Given the description of an element on the screen output the (x, y) to click on. 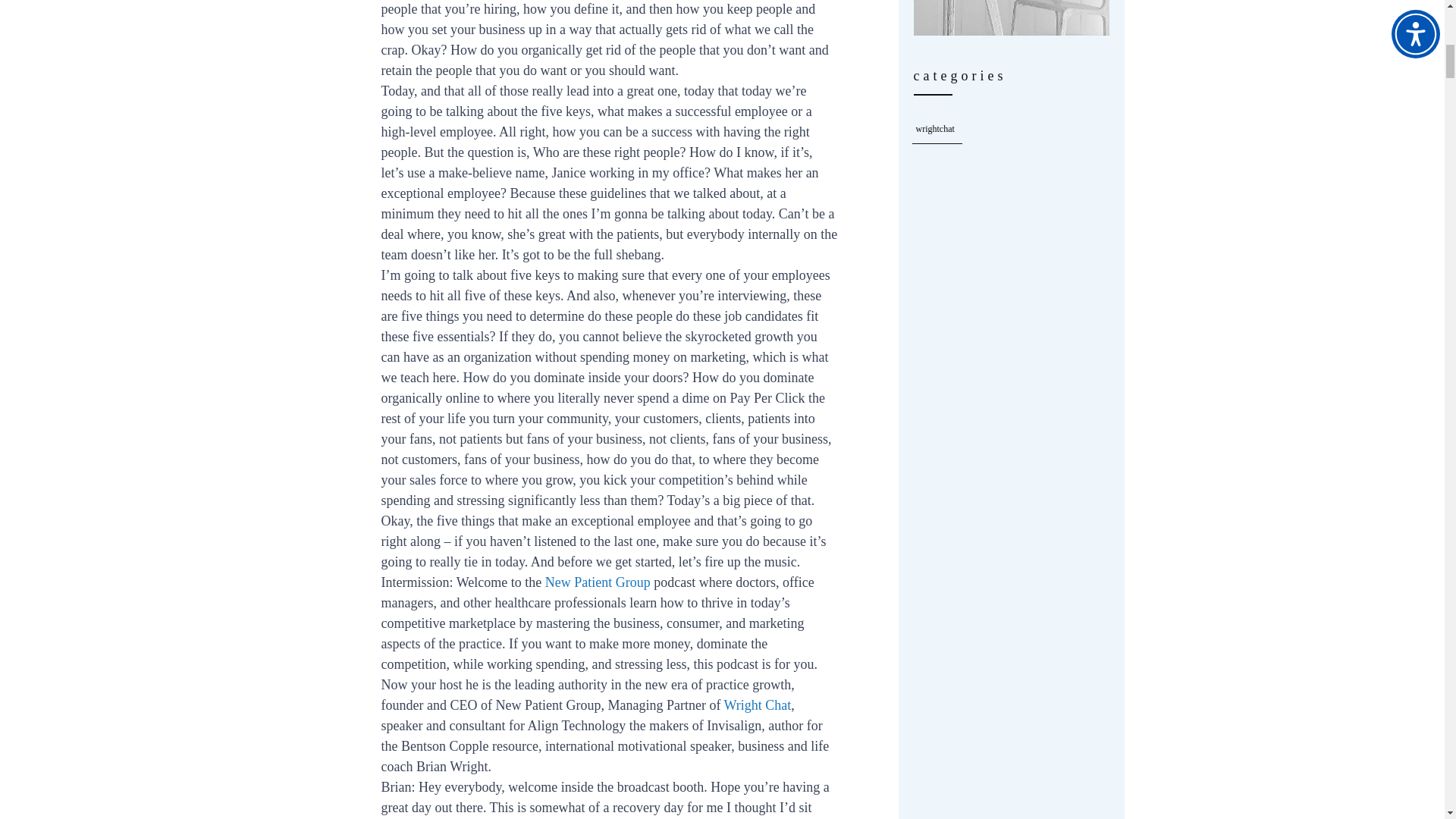
New Patient Group (597, 581)
Wright Chat (757, 704)
wrightchat (935, 128)
